Given the description of an element on the screen output the (x, y) to click on. 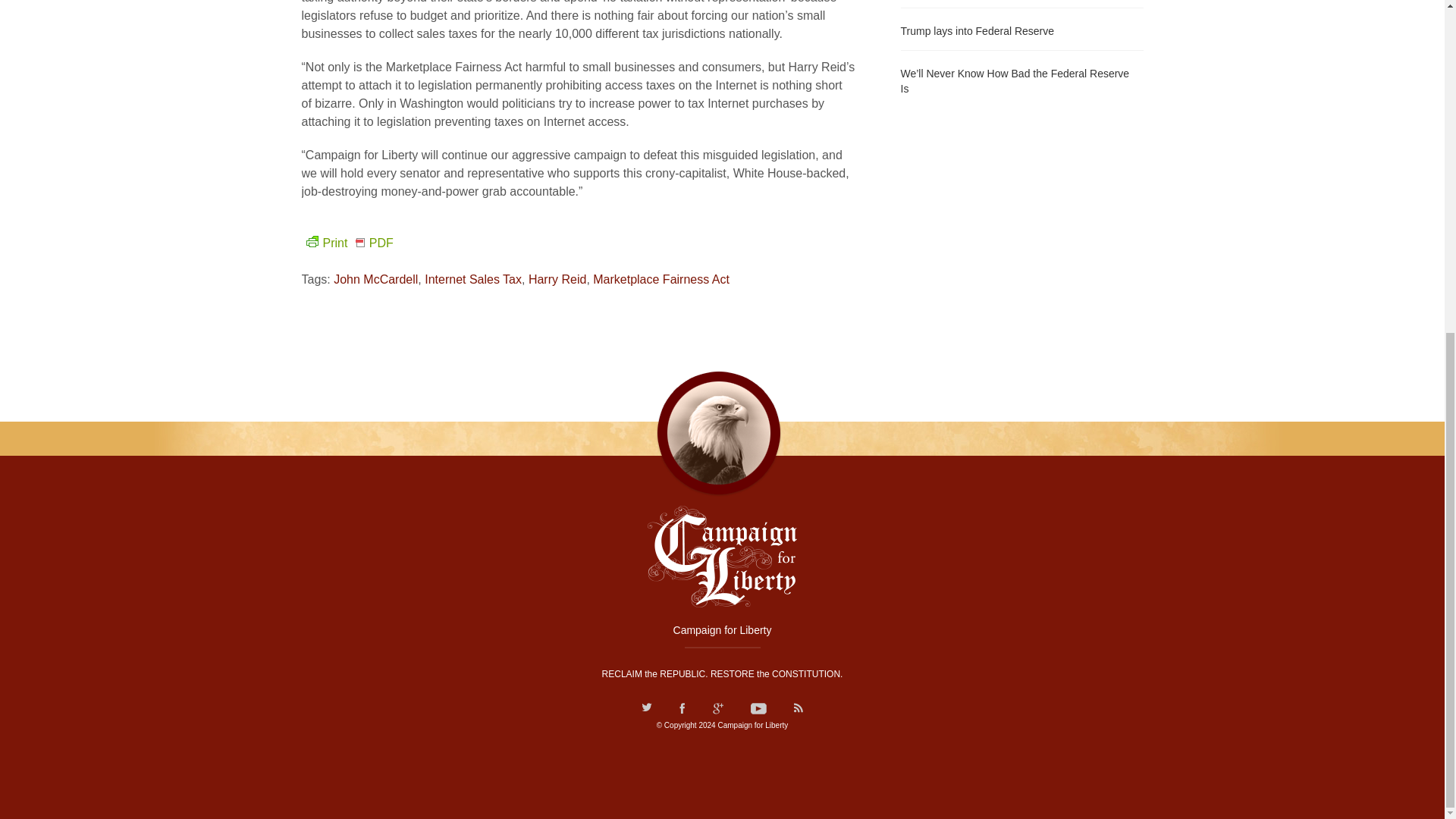
Printer Friendly and PDF (347, 242)
John McCardell (375, 278)
Trump lays into Federal Reserve (1021, 29)
Marketplace Fairness Act (660, 278)
Harry Reid (557, 278)
Internet Sales Tax (473, 278)
Print PDF (347, 242)
